Given the description of an element on the screen output the (x, y) to click on. 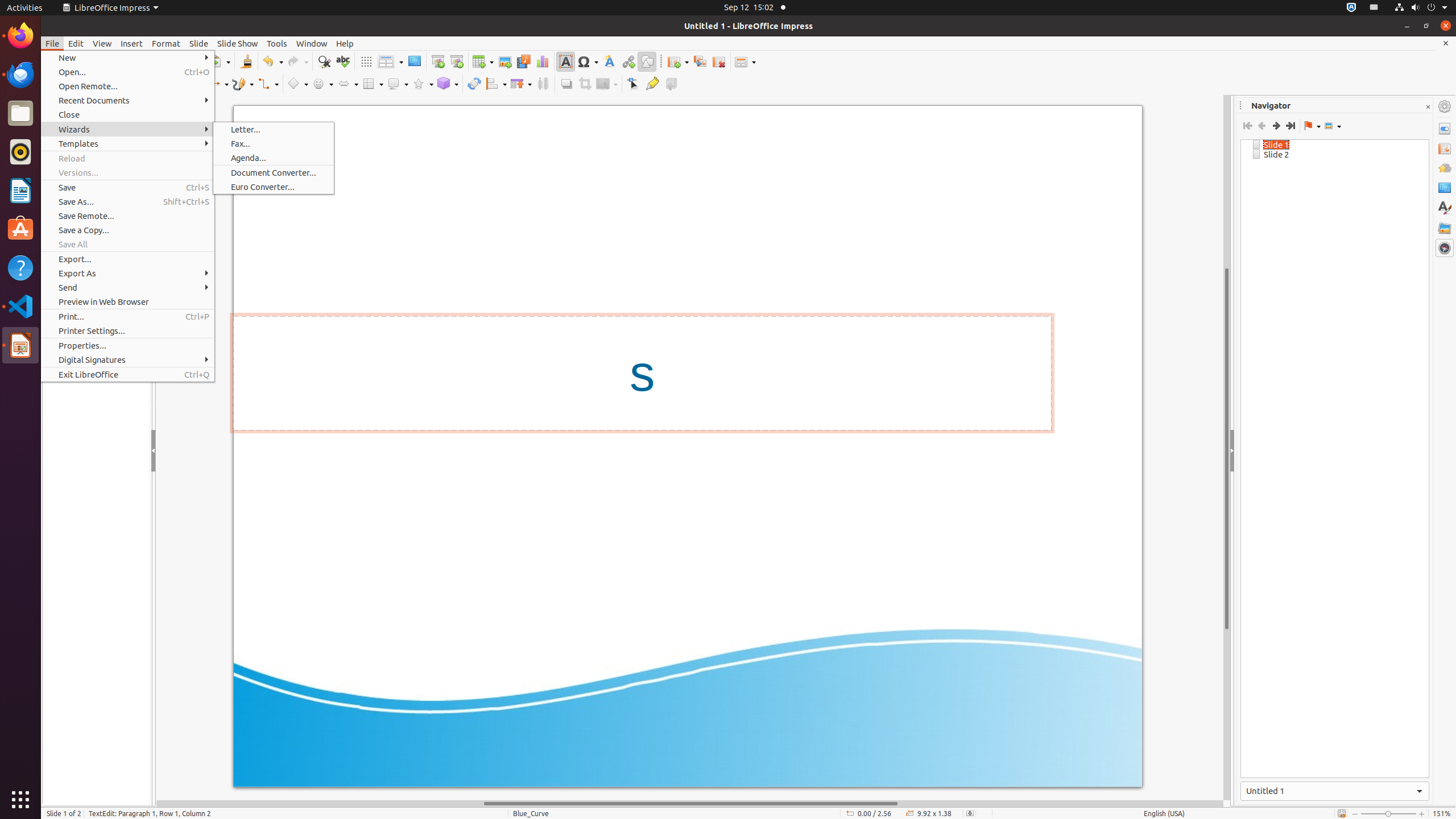
Slide Transition Element type: radio-button (1444, 148)
Templates Element type: menu (127, 143)
Properties Element type: radio-button (1444, 128)
:1.21/StatusNotifierItem Element type: menu (1373, 7)
Preview in Web Browser Element type: menu-item (127, 301)
